Given the description of an element on the screen output the (x, y) to click on. 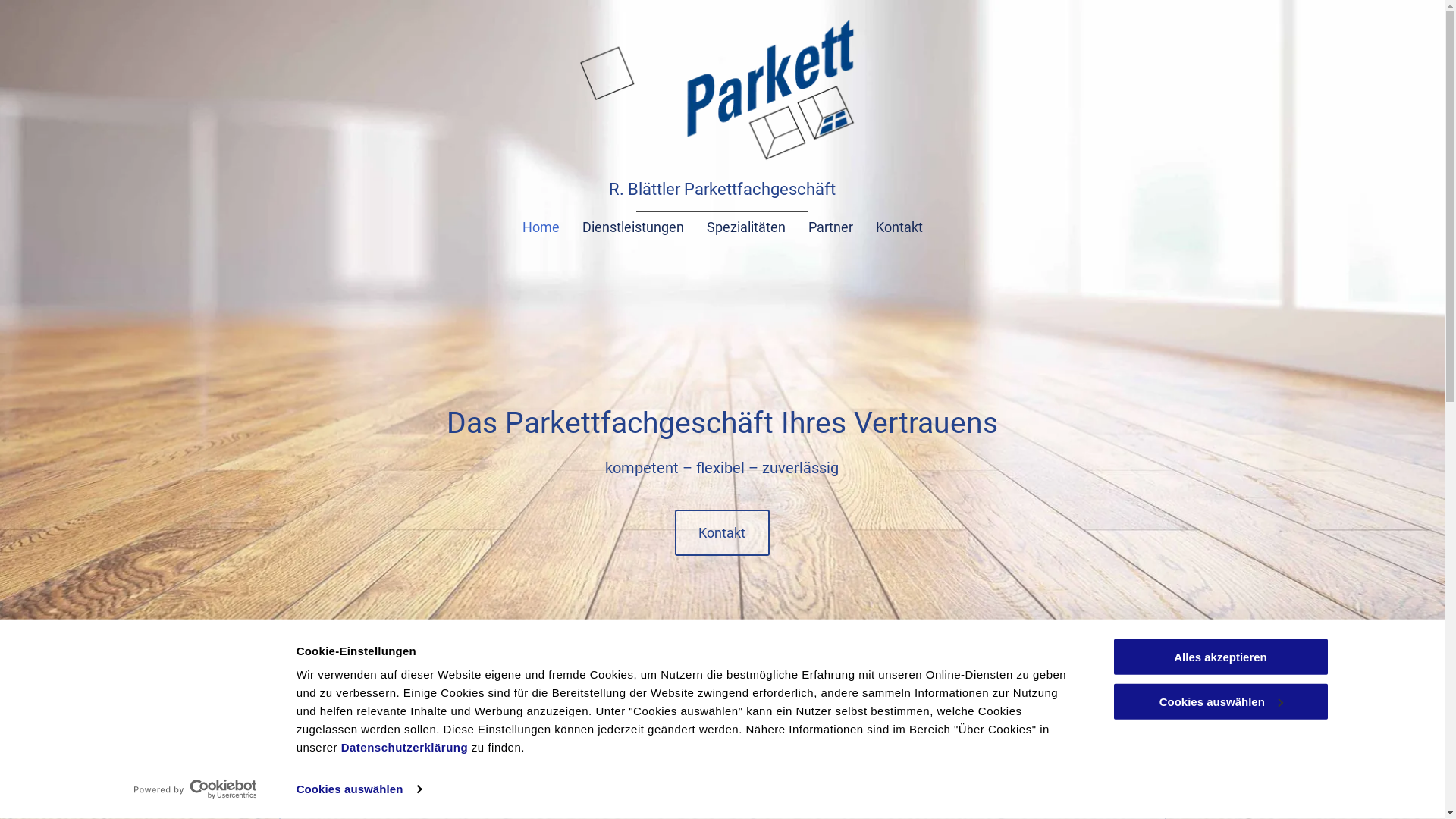
Alles akzeptieren Element type: text (1219, 656)
Partner Element type: text (829, 226)
Dienstleistungen Element type: text (632, 226)
Home Element type: text (541, 226)
Kontakt Element type: text (721, 532)
Kontakt Element type: text (899, 226)
